Given the description of an element on the screen output the (x, y) to click on. 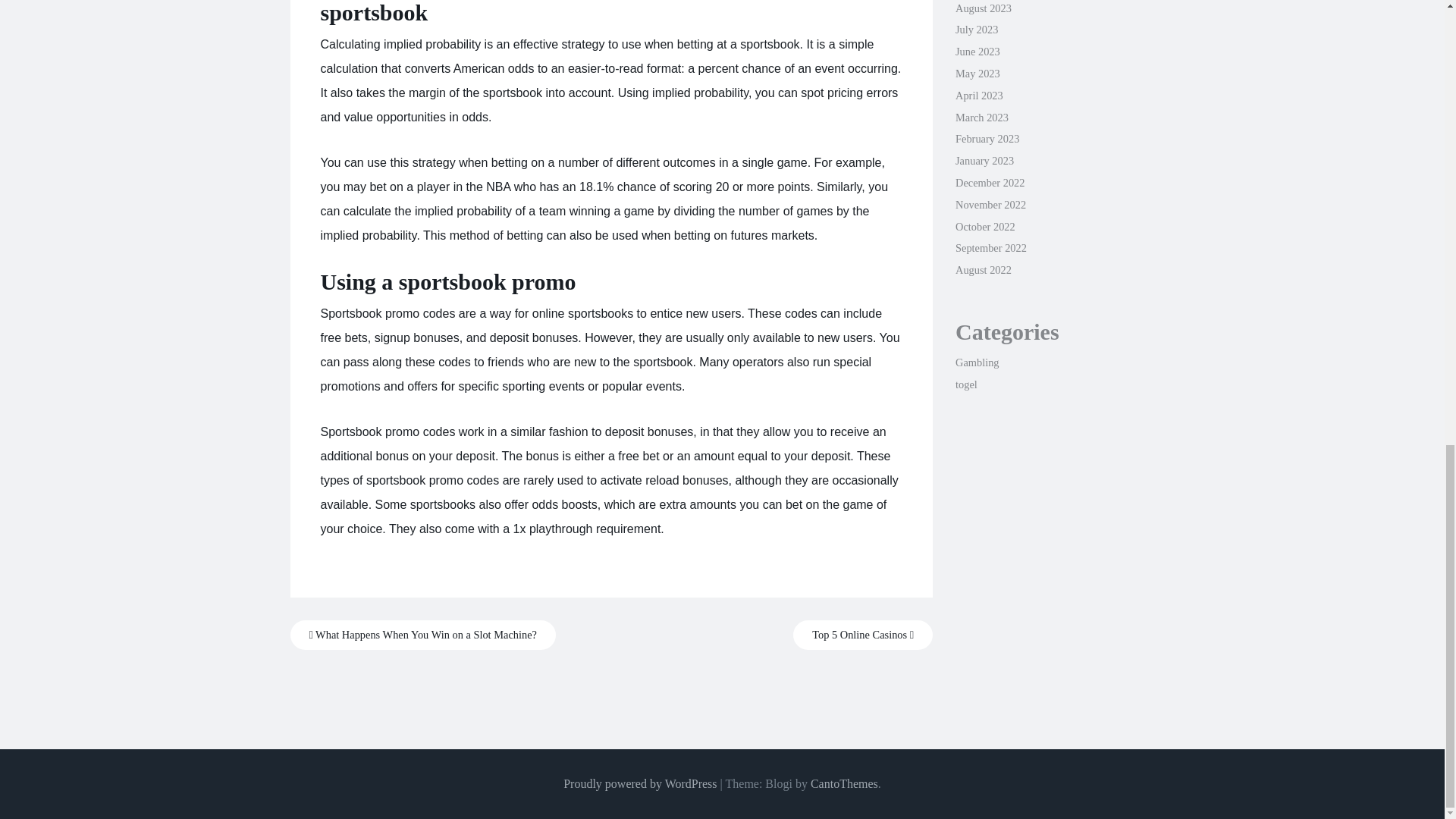
June 2023 (977, 51)
November 2022 (990, 204)
December 2022 (990, 182)
October 2022 (984, 226)
January 2023 (984, 160)
April 2023 (979, 95)
March 2023 (982, 117)
February 2023 (987, 138)
What Happens When You Win on a Slot Machine? (421, 634)
July 2023 (976, 29)
